Given the description of an element on the screen output the (x, y) to click on. 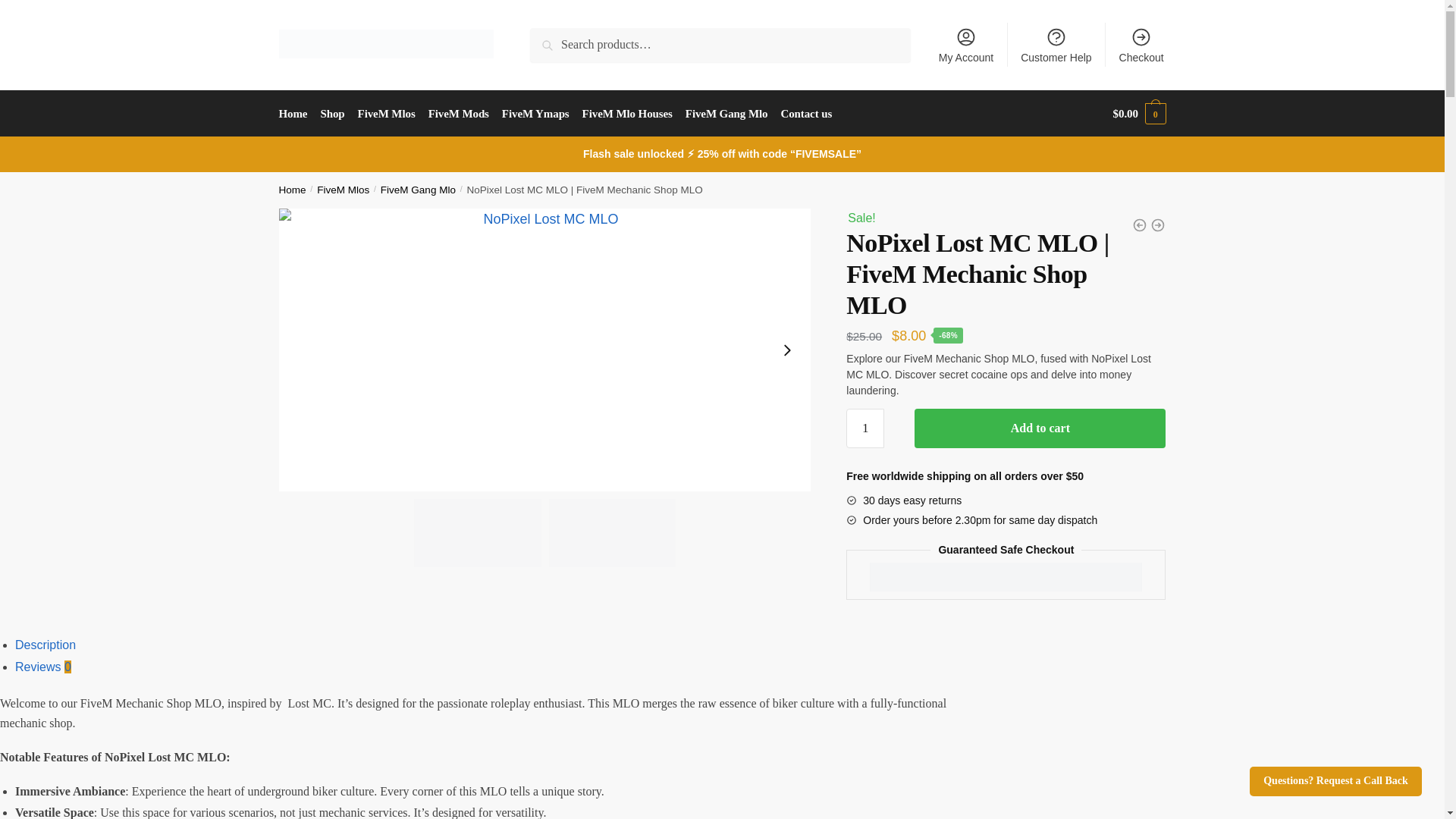
FiveM Gang Mlo (726, 113)
Home (296, 113)
FiveM Gang Mlo (417, 189)
My Account (966, 44)
FiveM Mlos (386, 113)
Contact us (806, 113)
Customer Help (1055, 44)
FiveM Ymaps (535, 113)
FiveM Mlos (343, 189)
Home (292, 189)
NoPixel Lost MC MLO (612, 532)
FiveM Mechanic Shop MLO (477, 532)
1 (864, 427)
Checkout (1141, 44)
